Given the description of an element on the screen output the (x, y) to click on. 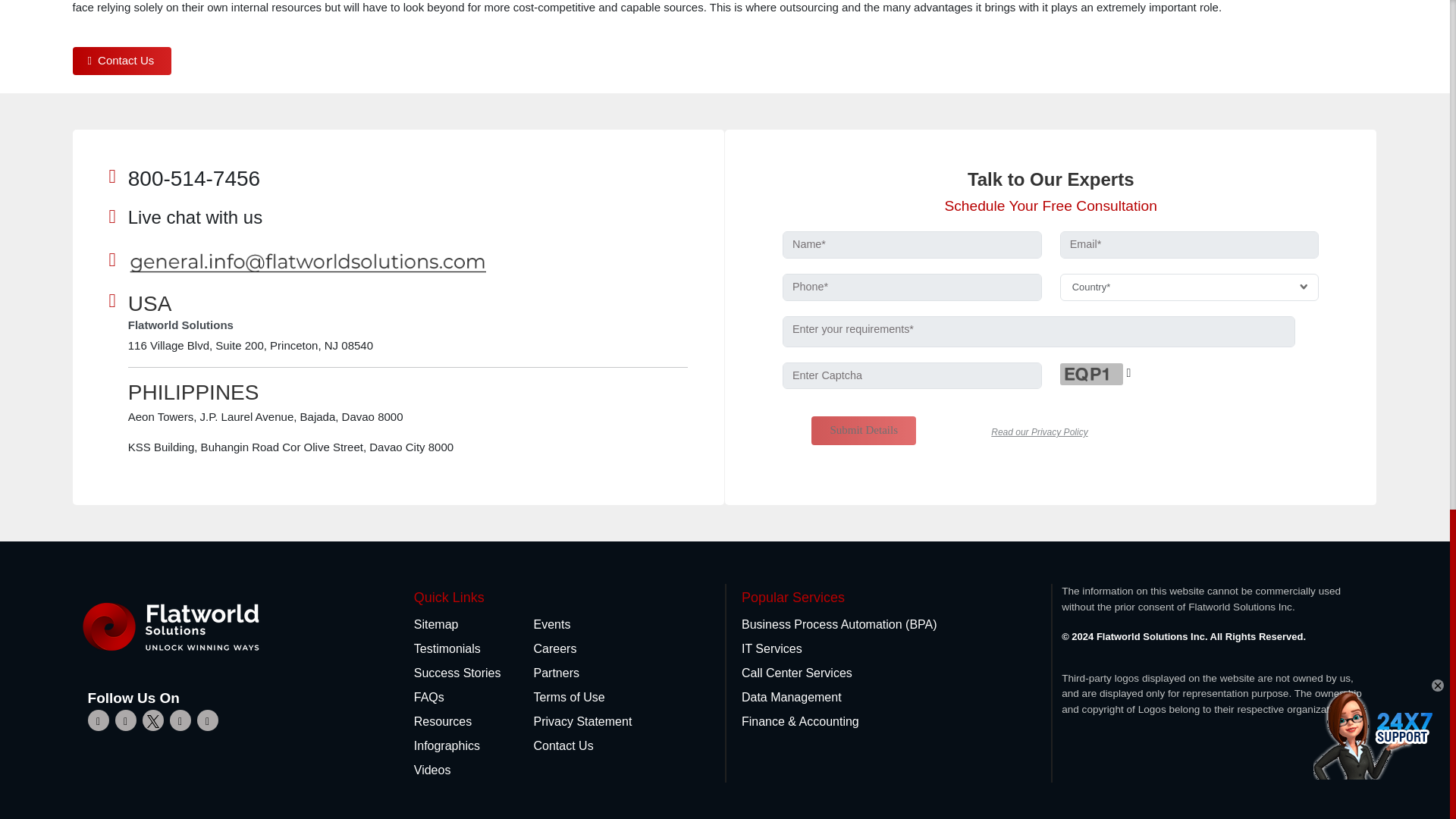
Submit Details (862, 430)
